Given the description of an element on the screen output the (x, y) to click on. 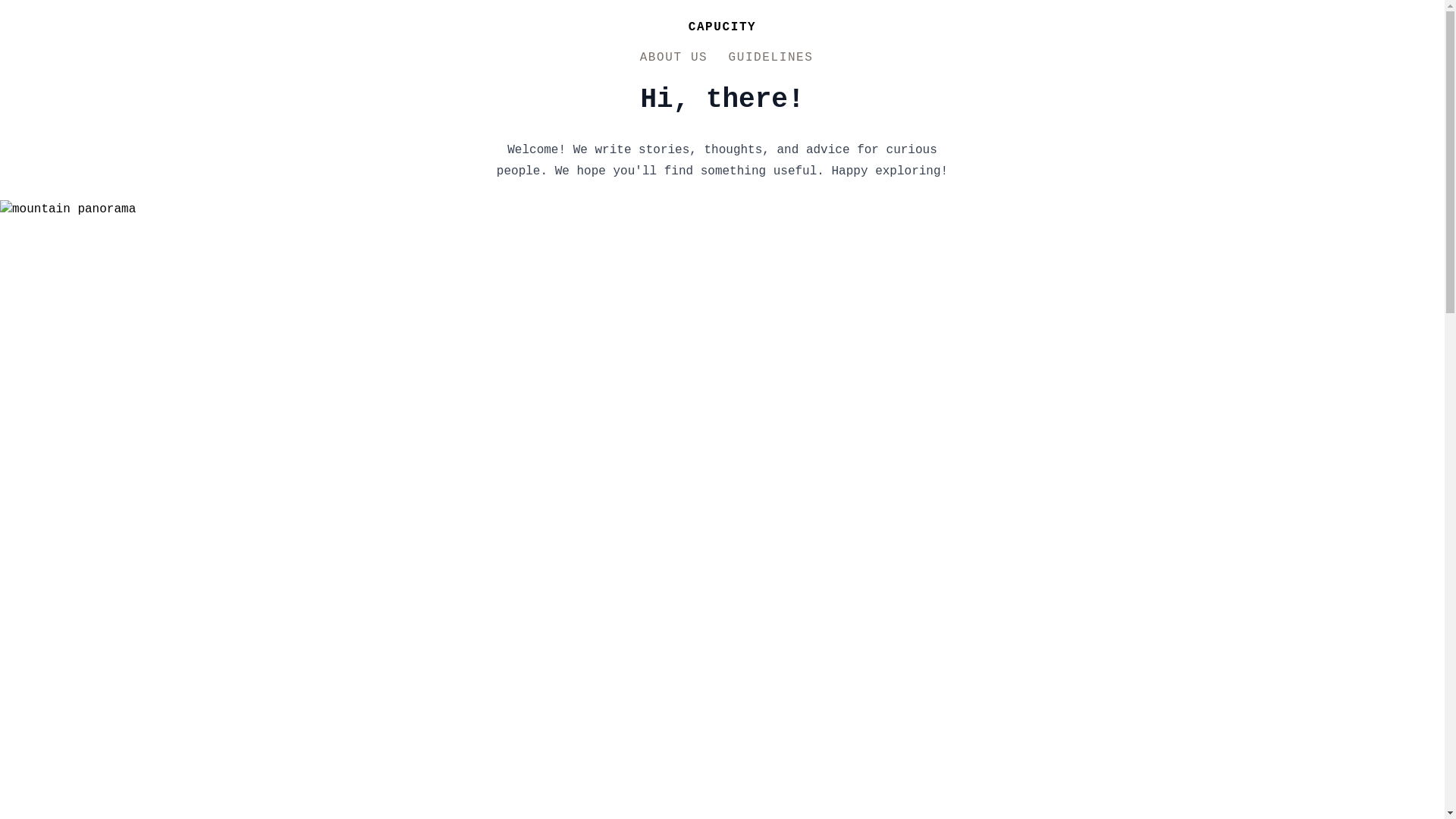
GUIDELINES Element type: text (770, 57)
CAPUCITY Element type: text (721, 27)
ABOUT US Element type: text (672, 57)
